Given the description of an element on the screen output the (x, y) to click on. 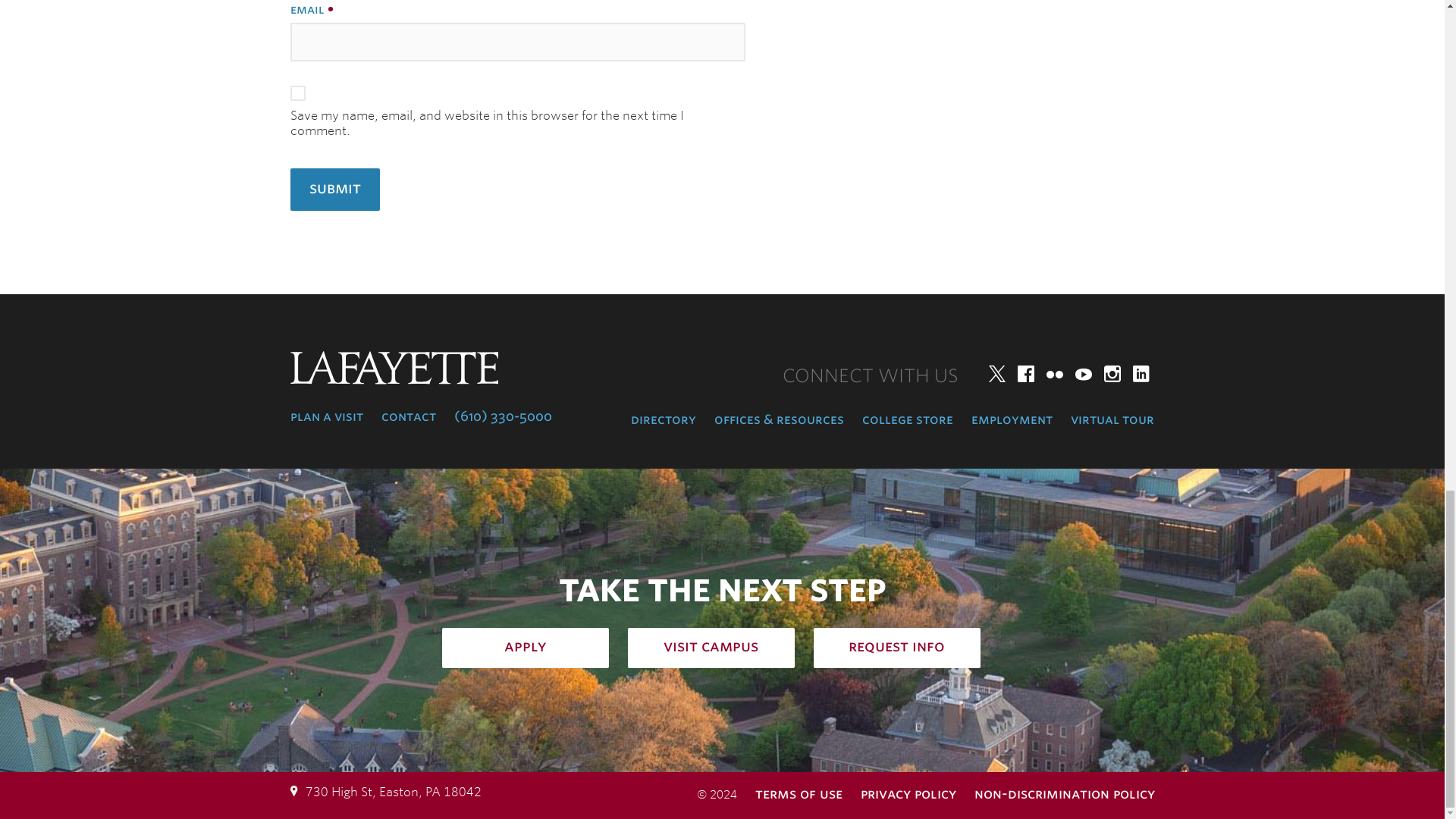
submit (333, 189)
